Given the description of an element on the screen output the (x, y) to click on. 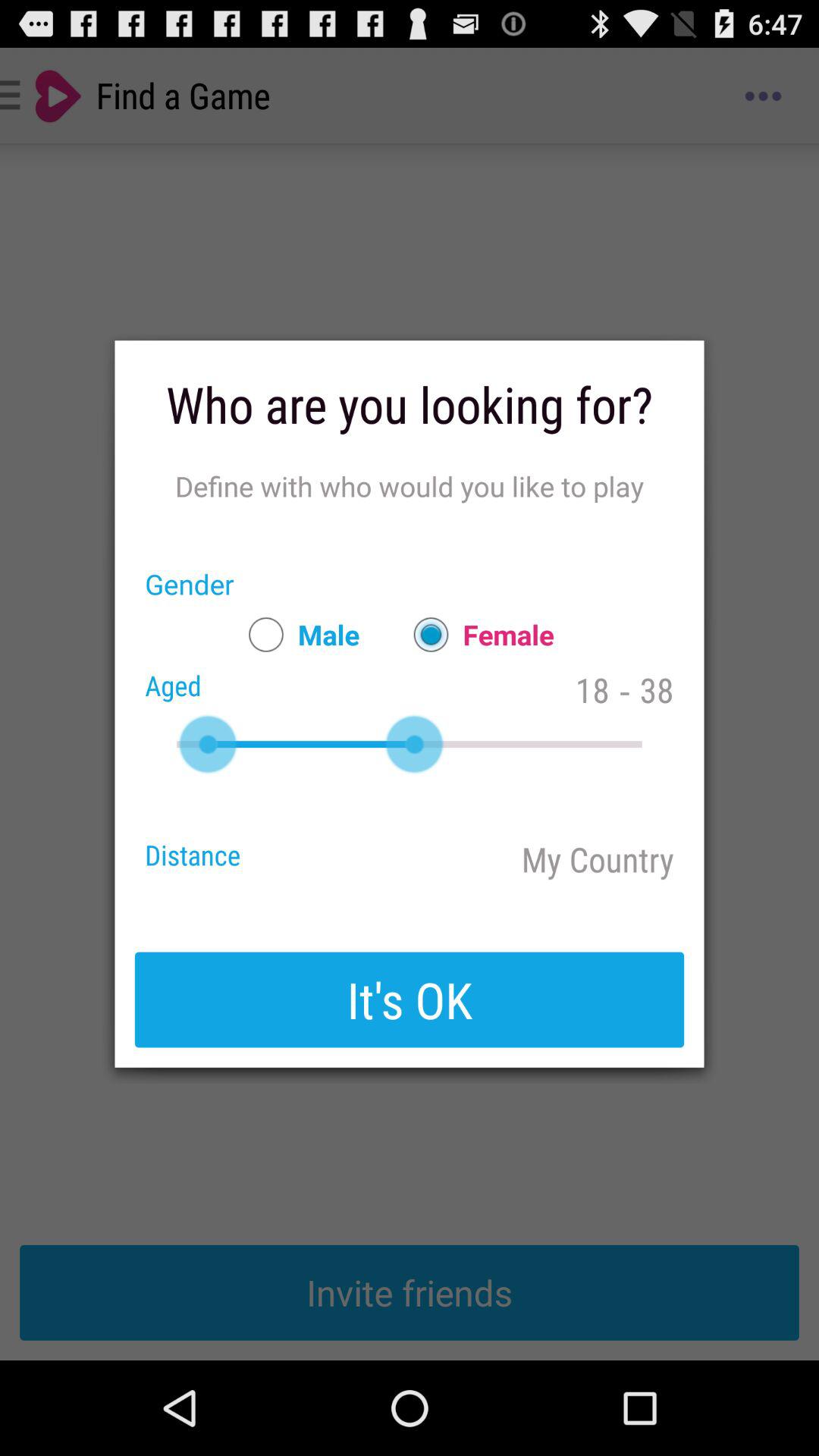
select the item next to the female (296, 634)
